Given the description of an element on the screen output the (x, y) to click on. 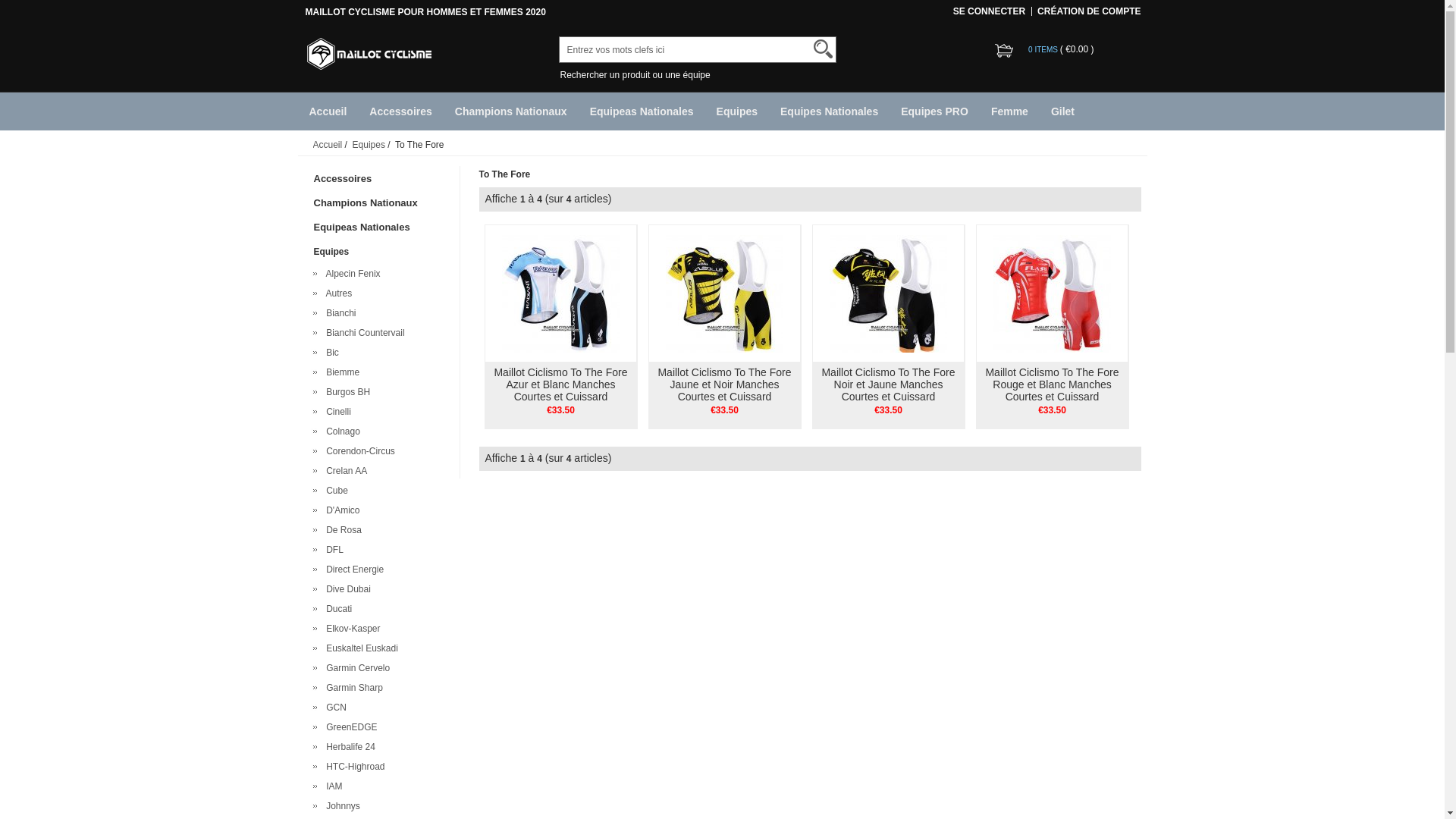
  Cinelli Element type: text (336, 411)
  D'Amico Element type: text (340, 510)
SE CONNECTER Element type: text (989, 11)
Accessoires Element type: text (400, 111)
  Corendon-Circus Element type: text (358, 450)
Femme Element type: text (1009, 111)
  Elkov-Kasper Element type: text (350, 628)
  HTC-Highroad Element type: text (353, 766)
Champions Nationaux Element type: text (380, 202)
Accueil Element type: text (327, 144)
  Autres Element type: text (336, 293)
  Burgos BH Element type: text (345, 391)
Search Element type: hover (821, 48)
Equipes Nationales Element type: text (828, 111)
Accueil Element type: text (327, 111)
Champions Nationaux Element type: text (510, 111)
  Bianchi Element type: text (338, 312)
0 ITEMS Element type: text (1044, 49)
  Dive Dubai Element type: text (345, 588)
  Euskaltel Euskadi Element type: text (359, 648)
  Johnnys Element type: text (340, 805)
  Herbalife 24 Element type: text (348, 746)
Gilet Element type: text (1062, 111)
  Crelan AA Element type: text (344, 470)
  Ducati Element type: text (336, 608)
  DFL Element type: text (332, 549)
  Direct Energie Element type: text (352, 569)
  Alpecin Fenix Element type: text (350, 273)
  GreenEDGE Element type: text (349, 726)
  Biemme Element type: text (340, 372)
Equipes Element type: text (736, 111)
  Garmin Cervelo Element type: text (355, 667)
  Bic Element type: text (329, 352)
  Garmin Sharp Element type: text (351, 687)
Accessoires Element type: text (380, 178)
  Cube Element type: text (334, 490)
  IAM Element type: text (331, 786)
  Colnago Element type: text (340, 431)
Equipeas Nationales Element type: text (641, 111)
Equipeas Nationales Element type: text (380, 226)
  Bianchi Countervail Element type: text (362, 332)
  De Rosa Element type: text (341, 529)
Equipes Element type: text (368, 144)
Equipes Element type: text (380, 251)
  GCN Element type: text (333, 707)
Equipes PRO Element type: text (934, 111)
